Given the description of an element on the screen output the (x, y) to click on. 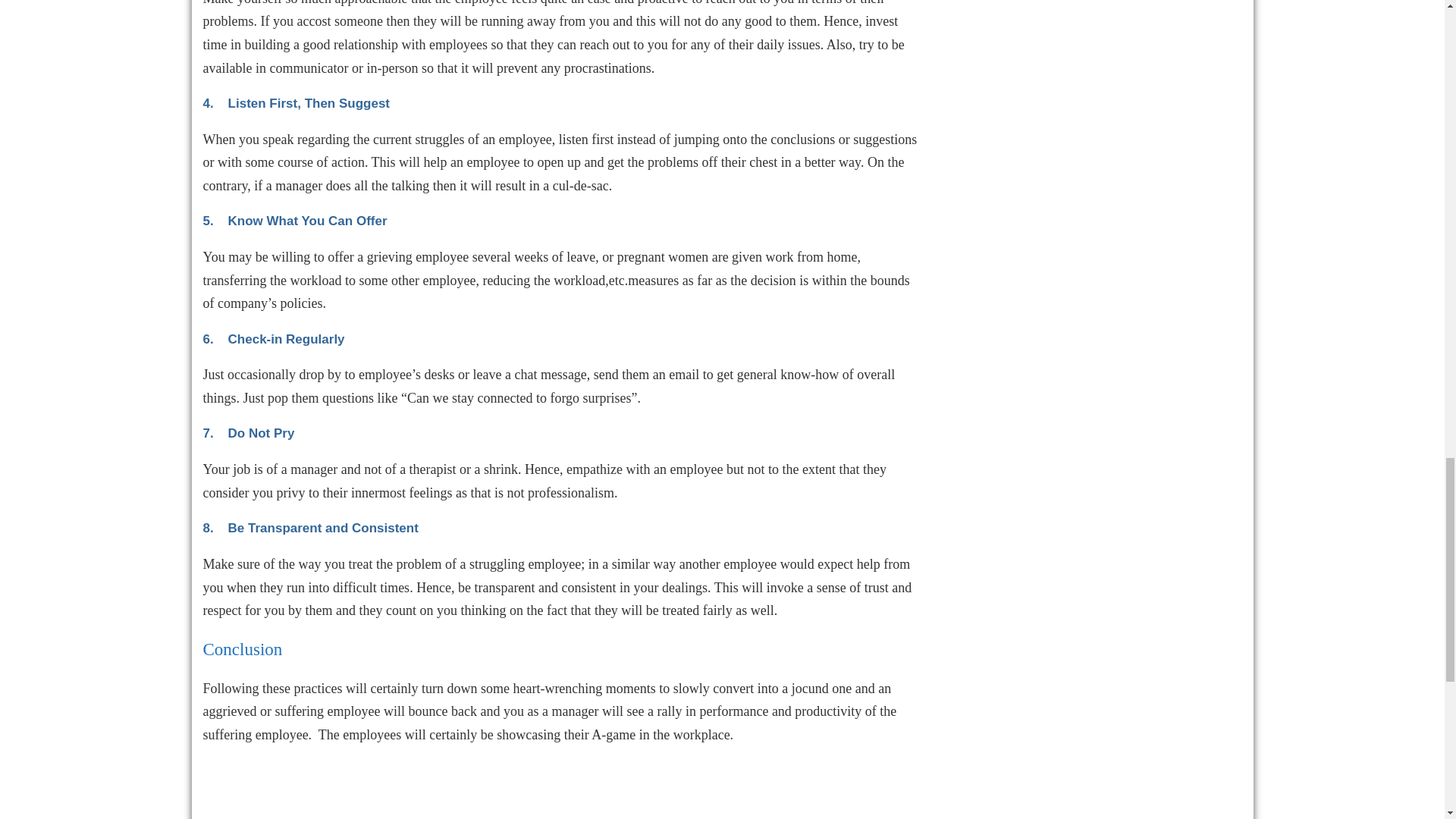
Share on Facebook (220, 812)
Share on Xing (384, 812)
Share on Reddit (426, 812)
Share on Twitter (261, 812)
Share on Linkedin (301, 812)
Share on Pinterest (343, 812)
